Given the description of an element on the screen output the (x, y) to click on. 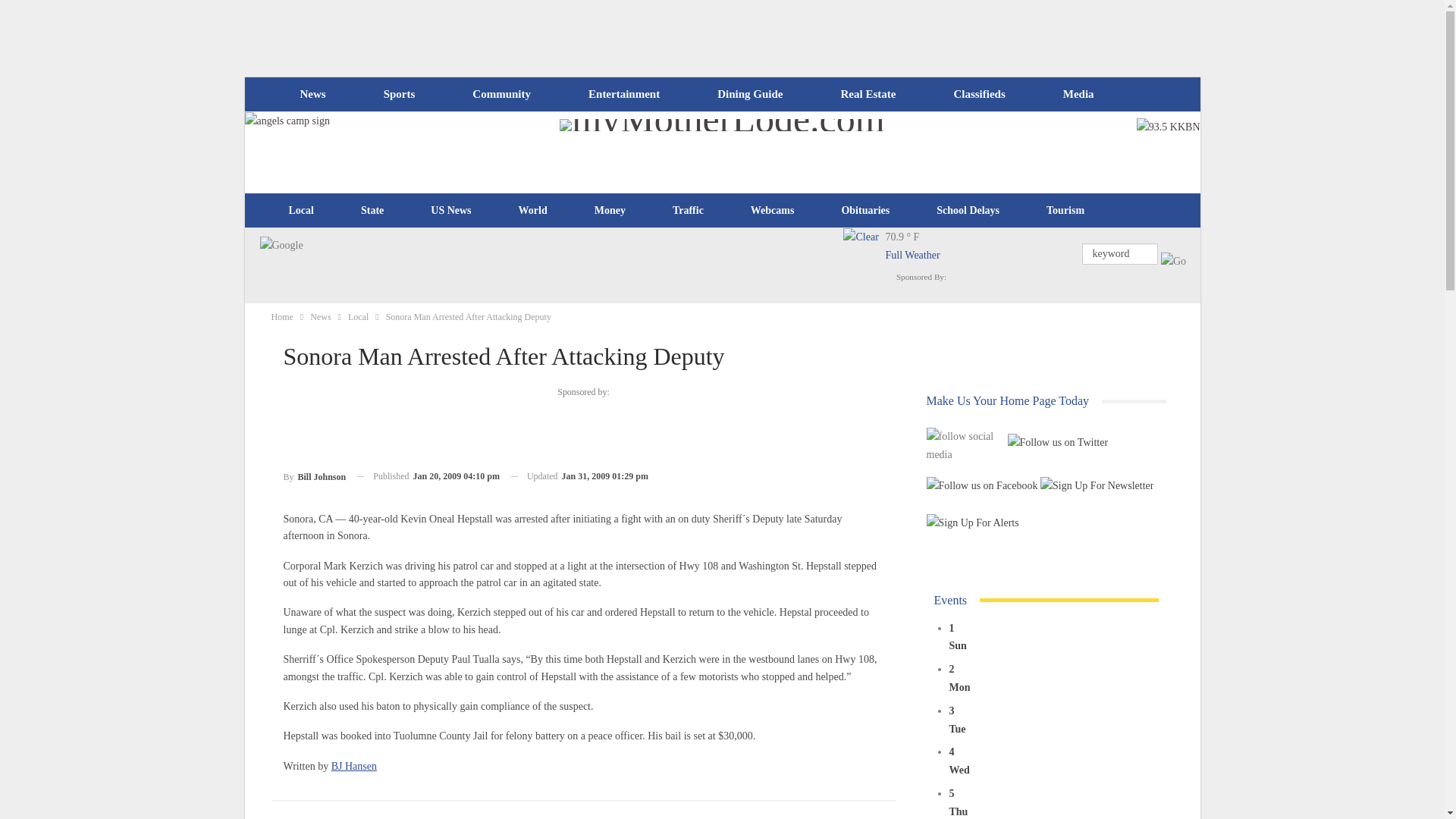
keyword (1119, 253)
Traffic (687, 210)
State (372, 210)
US News (451, 210)
Webcams (772, 210)
Local (300, 210)
Classifieds (979, 93)
Dining Guide (749, 93)
School Delays (967, 210)
